Given the description of an element on the screen output the (x, y) to click on. 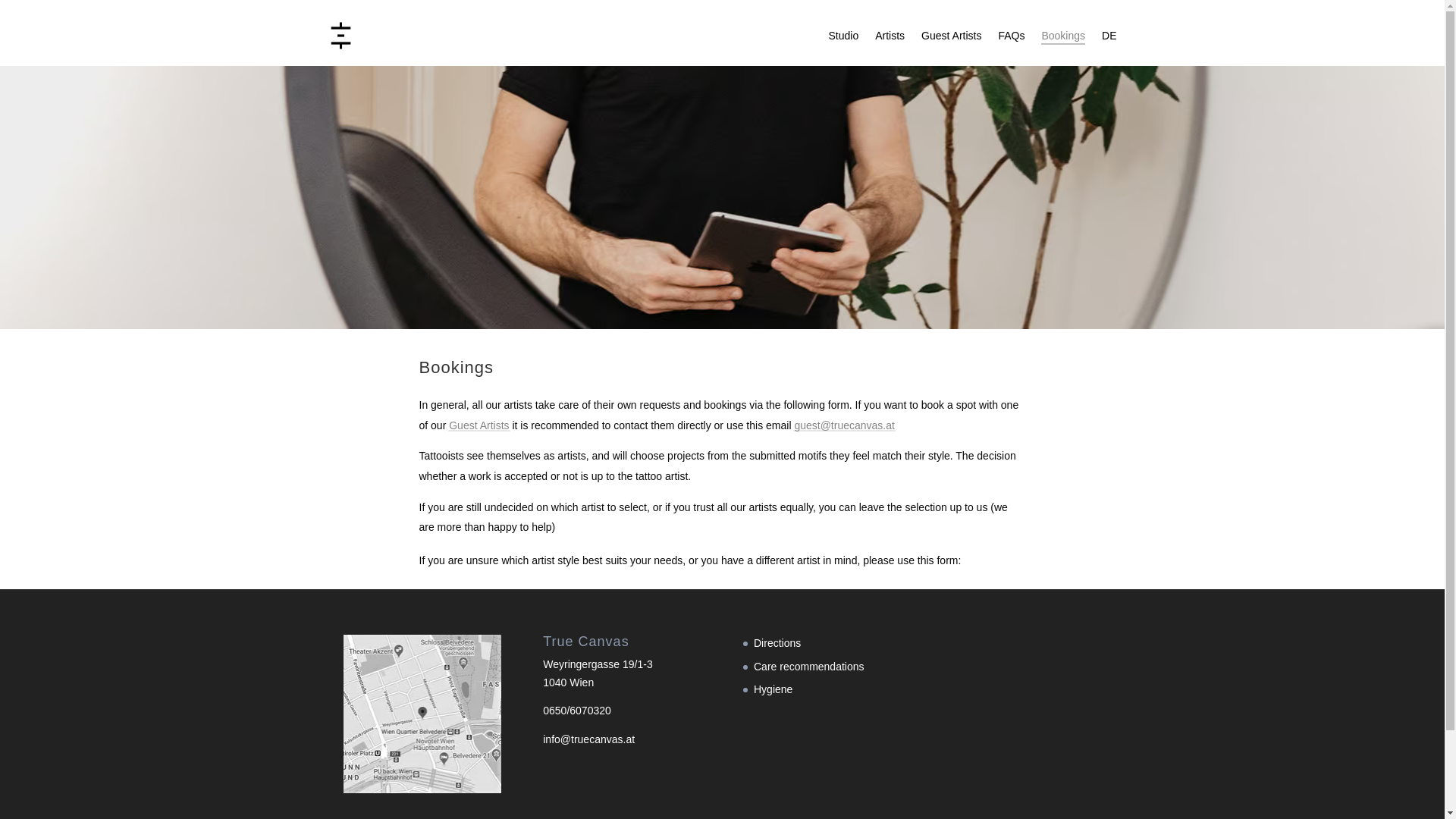
Directions (777, 643)
Hygiene (773, 689)
Guest Artists (951, 35)
Care recommendations (809, 666)
Guest Artists (478, 425)
